Given the description of an element on the screen output the (x, y) to click on. 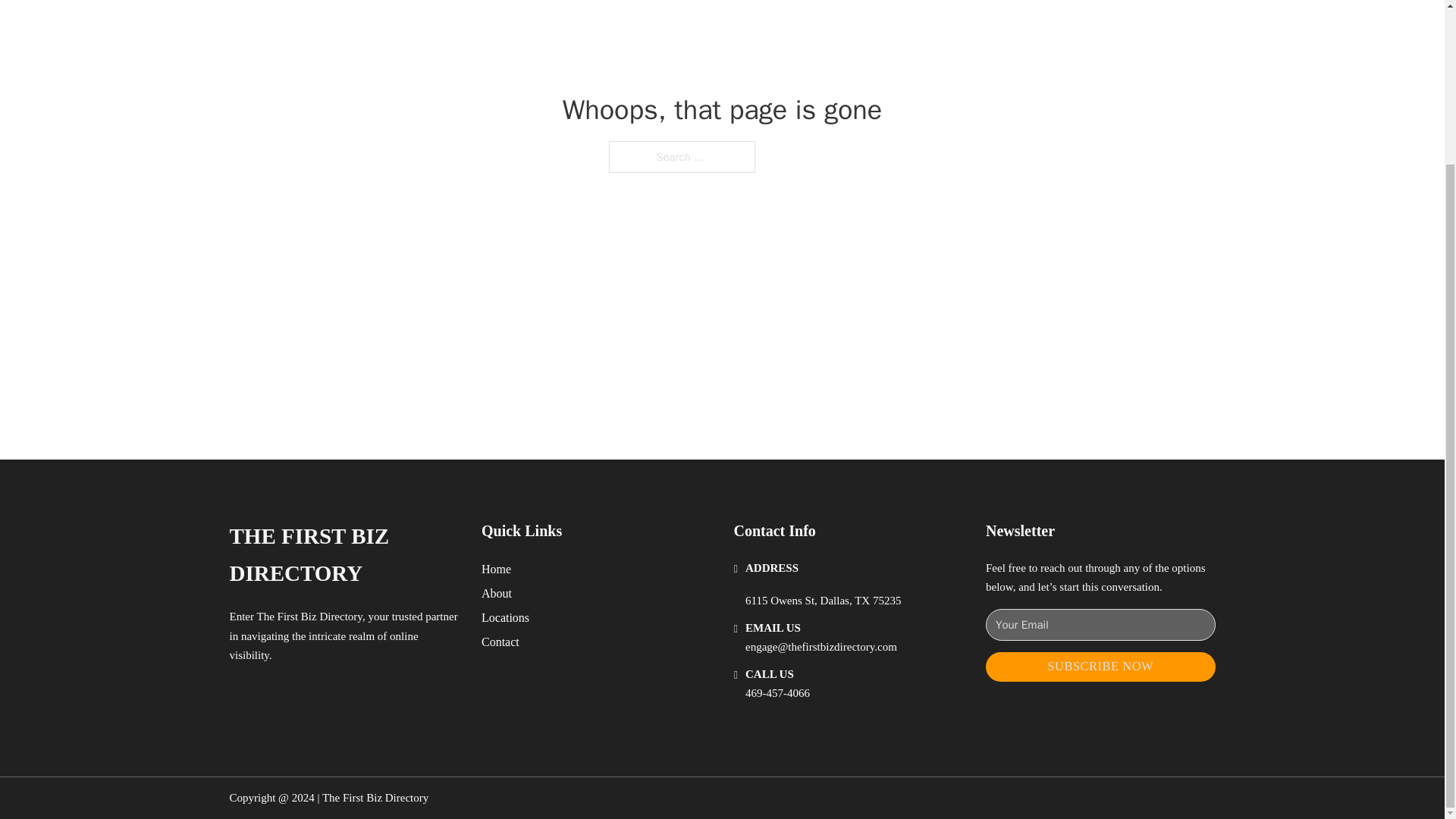
469-457-4066 (777, 693)
Contact (500, 641)
Home (496, 568)
SUBSCRIBE NOW (1100, 666)
About (496, 593)
Locations (505, 617)
THE FIRST BIZ DIRECTORY (343, 554)
